Given the description of an element on the screen output the (x, y) to click on. 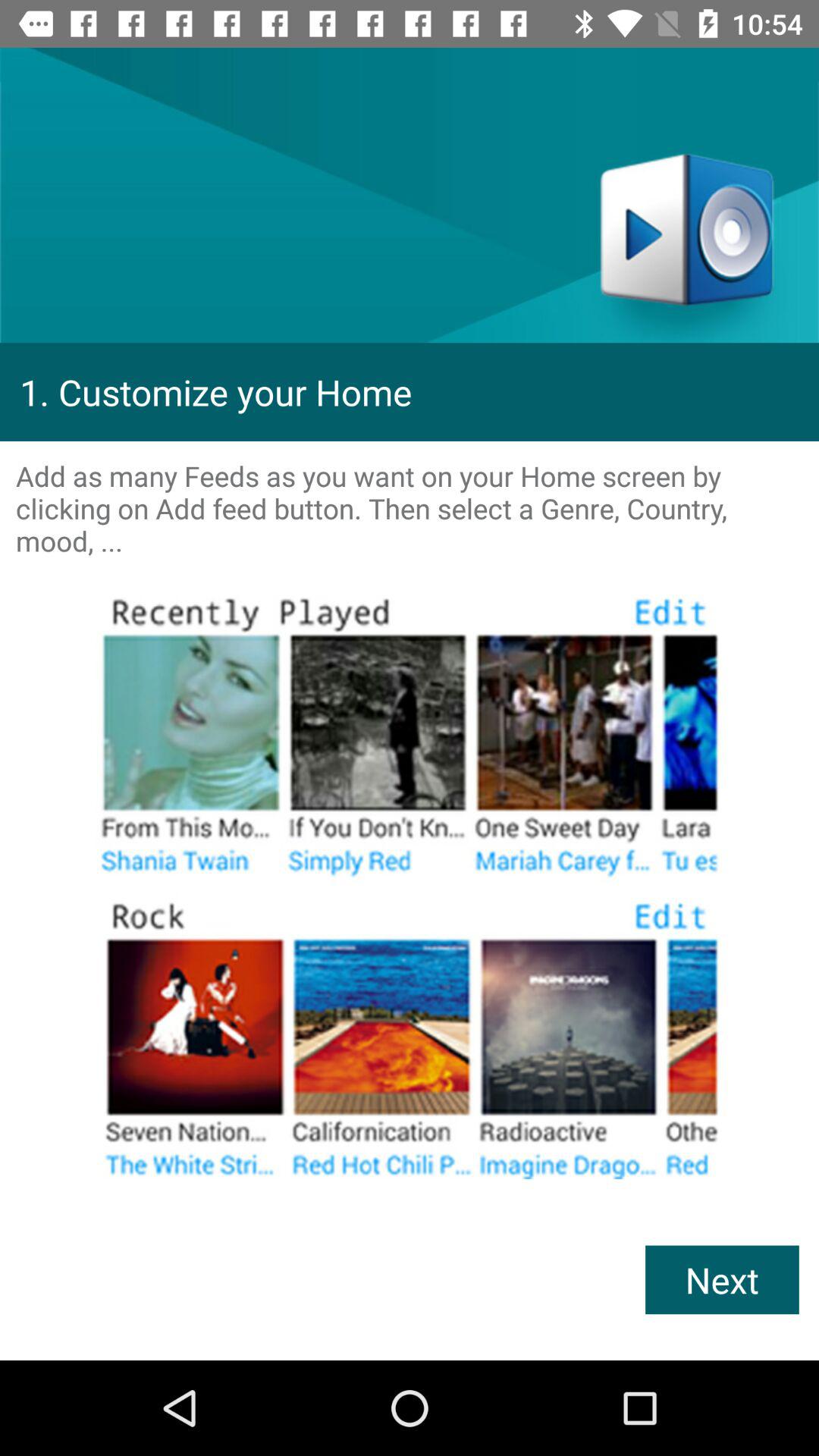
scroll until next icon (722, 1279)
